Given the description of an element on the screen output the (x, y) to click on. 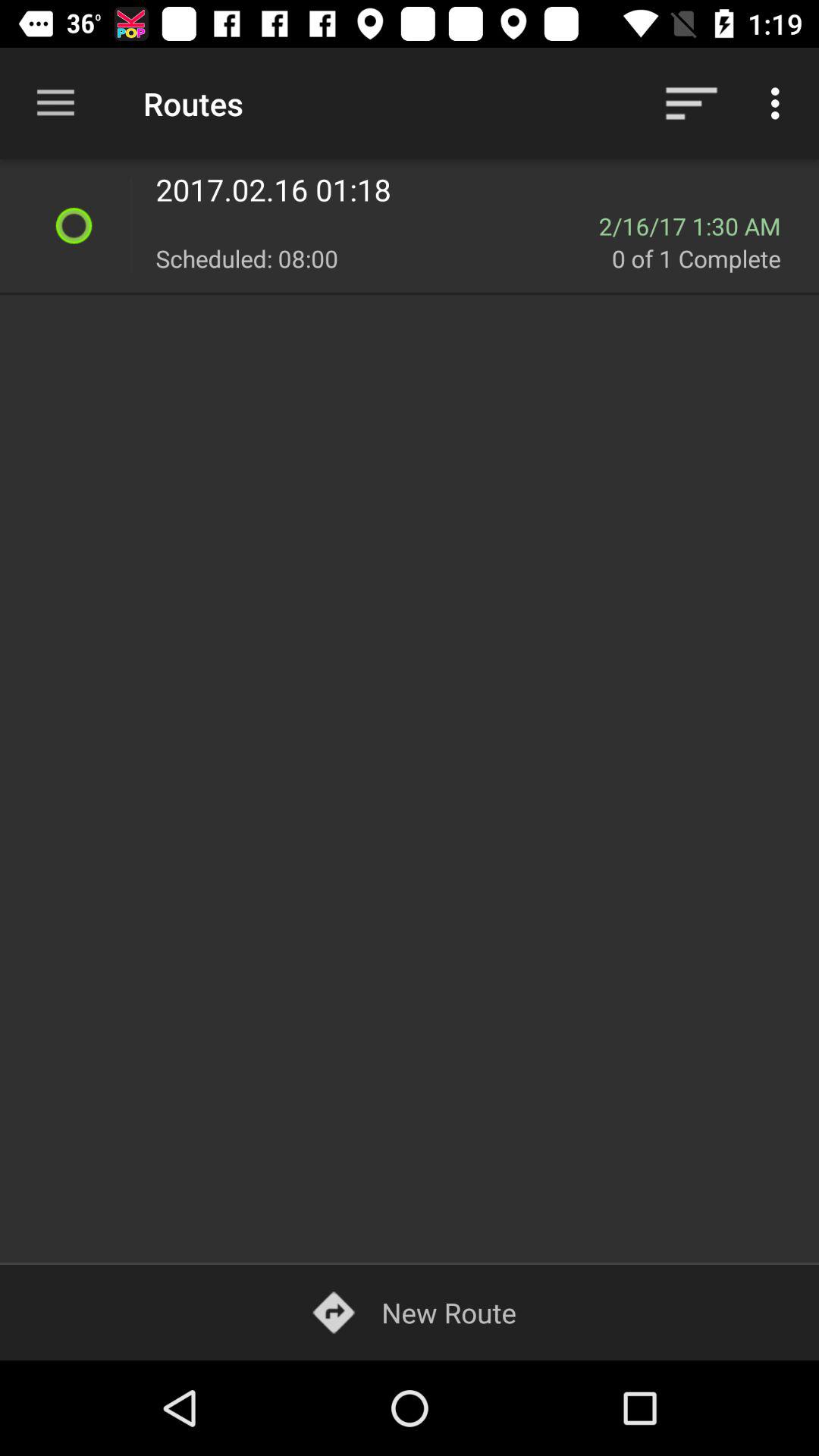
open 0 of 1 icon (705, 258)
